Given the description of an element on the screen output the (x, y) to click on. 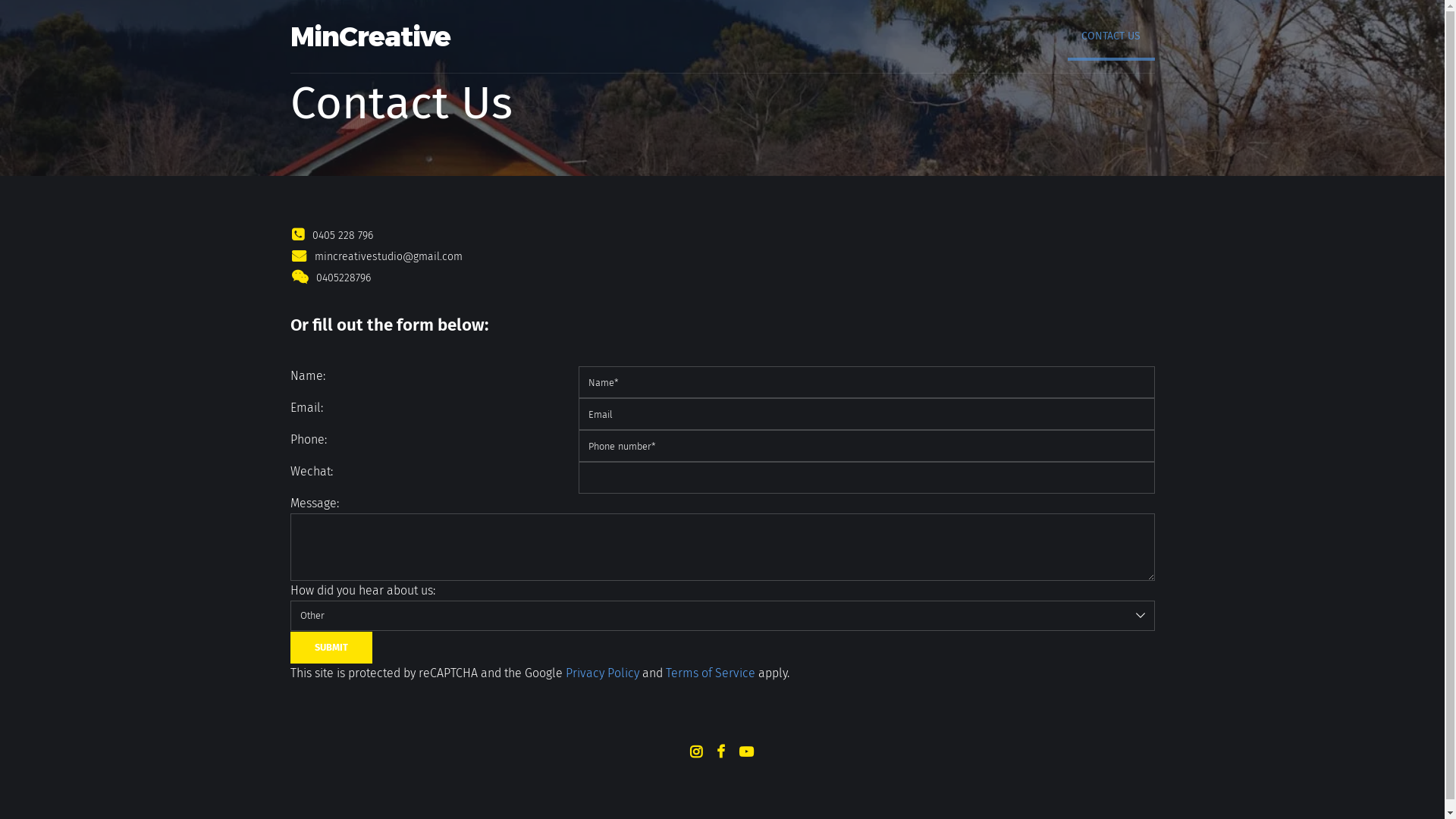
CONTACT US Element type: text (1110, 36)
MinCreative Element type: text (369, 36)
Privacy Policy Element type: text (602, 672)
Terms of Service Element type: text (710, 672)
Submit Element type: text (330, 647)
